Given the description of an element on the screen output the (x, y) to click on. 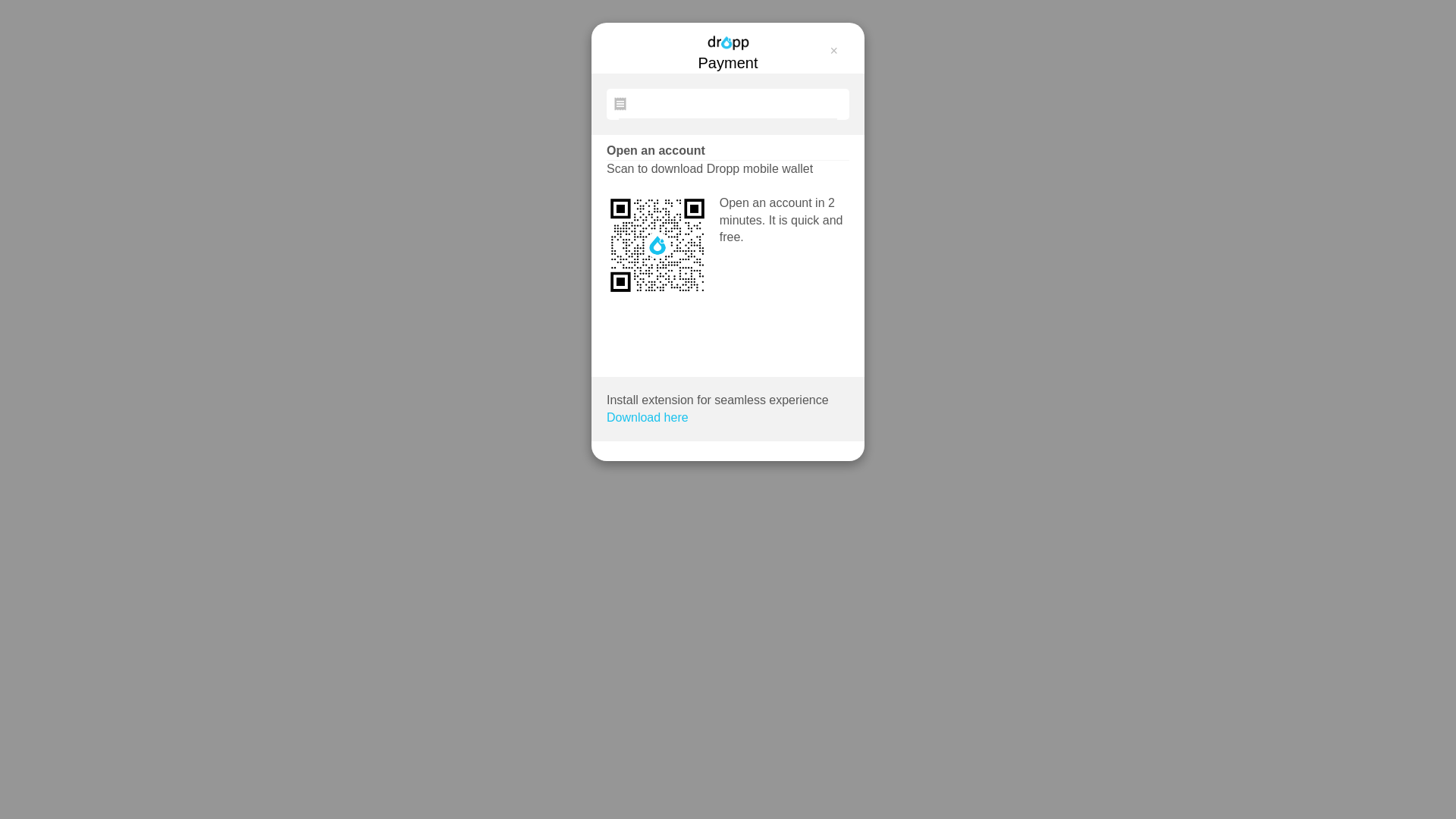
Download here Element type: text (647, 417)
